Given the description of an element on the screen output the (x, y) to click on. 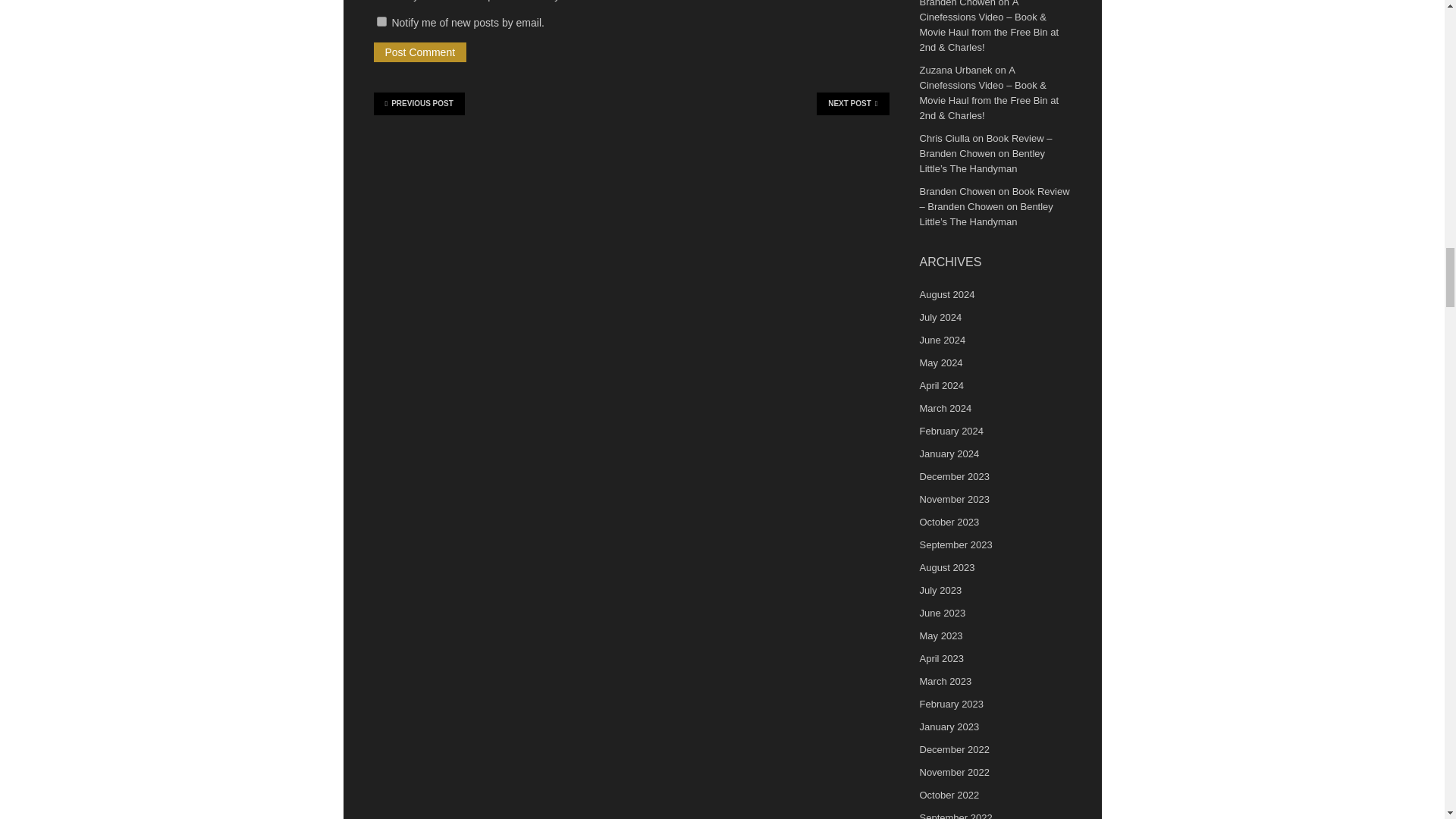
Post Comment (418, 52)
subscribe (380, 21)
